Given the description of an element on the screen output the (x, y) to click on. 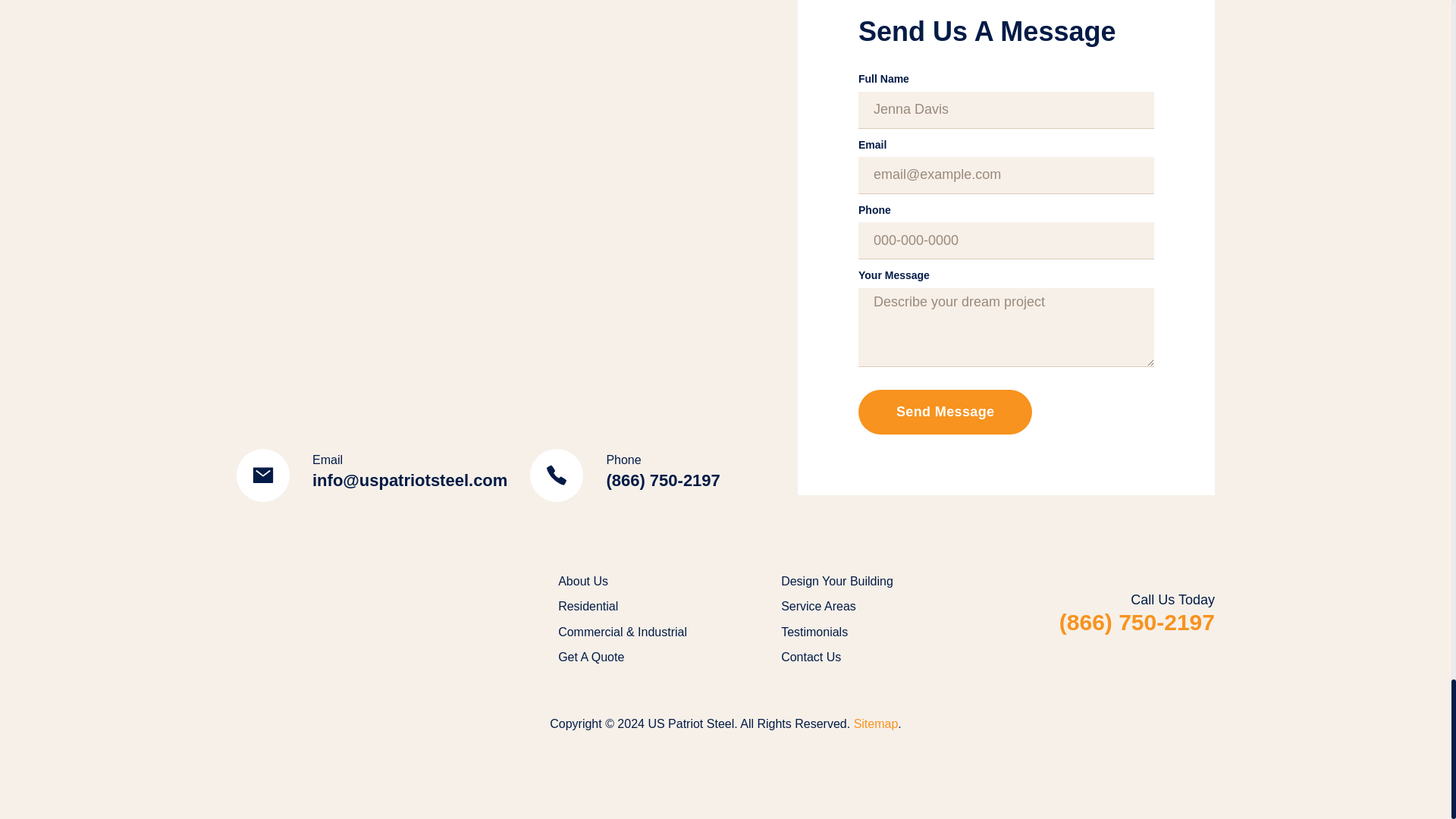
Call Us (624, 475)
Email Us (370, 475)
